Given the description of an element on the screen output the (x, y) to click on. 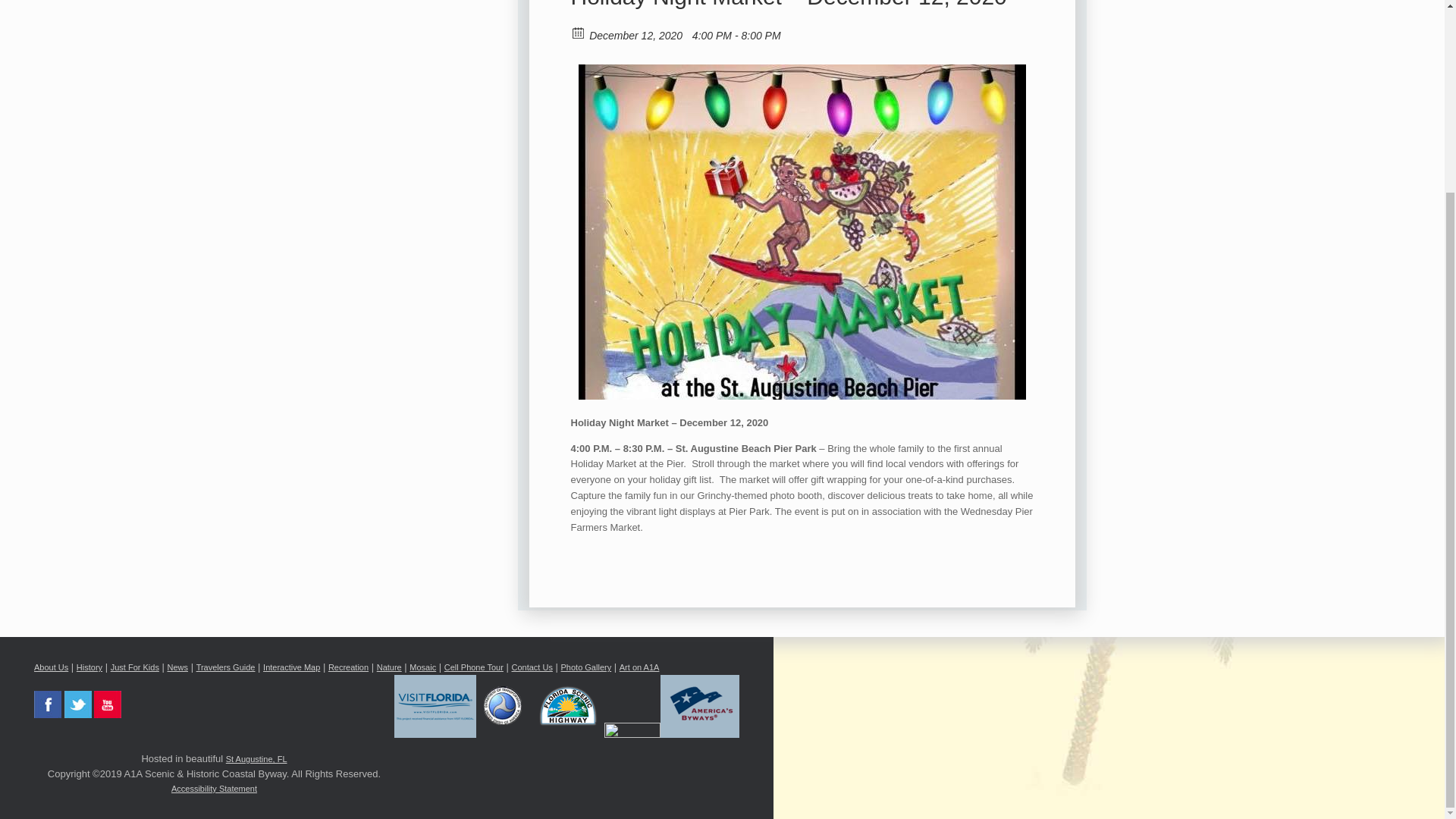
Discover More about St Augustine (255, 758)
Interactive Map (291, 666)
Art on A1A (639, 666)
News (177, 666)
Photo Gallery (585, 666)
Just For Kids (134, 666)
History (89, 666)
Contact Us (531, 666)
Recreation (348, 666)
Travelers Guide (226, 666)
Date (578, 31)
Nature (389, 666)
Cell Phone Tour (473, 666)
Mosaic (422, 666)
About Us (50, 666)
